Given the description of an element on the screen output the (x, y) to click on. 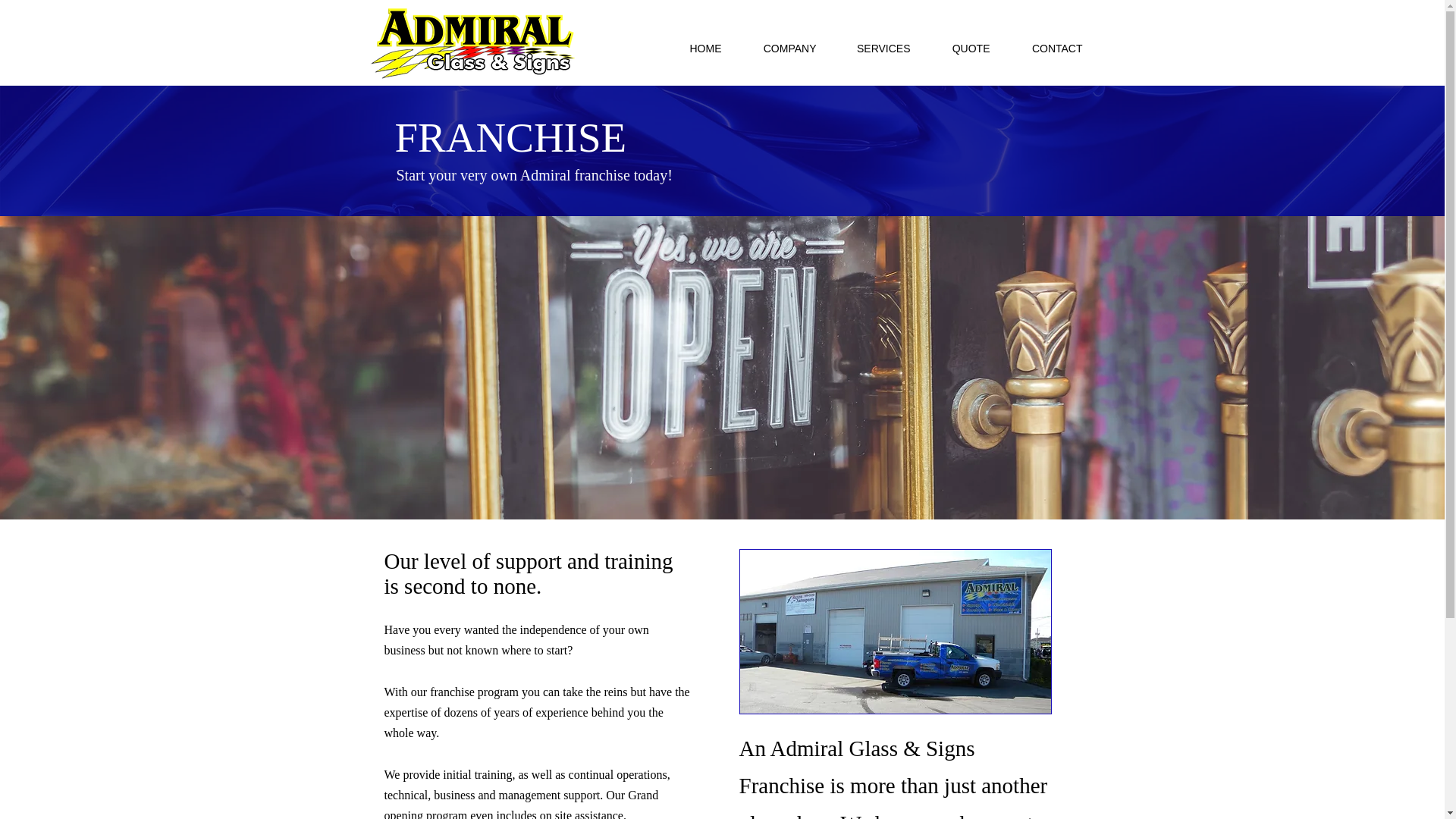
CONTACT (1047, 48)
QUOTE (961, 48)
HOME (695, 48)
